Given the description of an element on the screen output the (x, y) to click on. 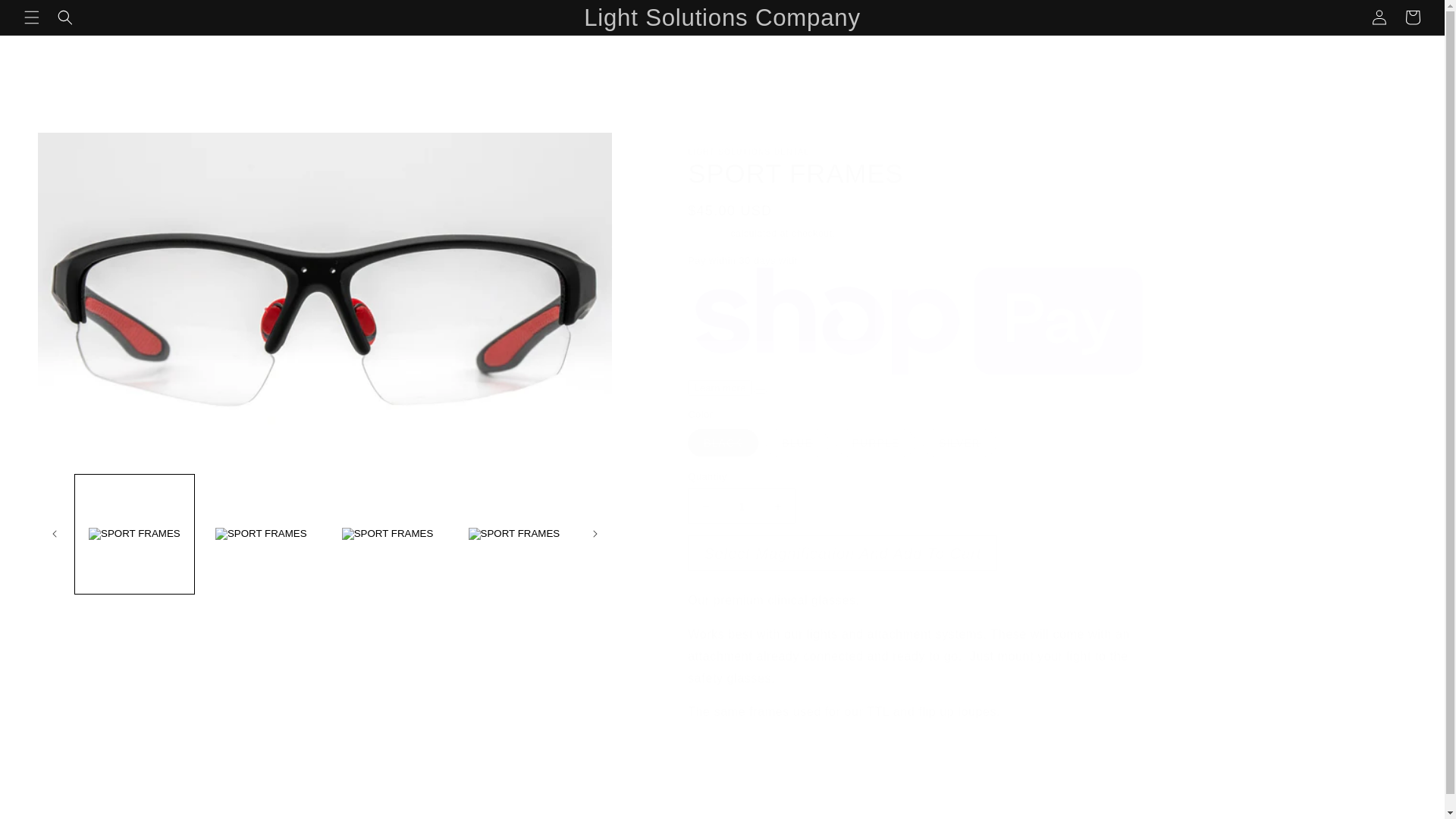
Skip to product information (105, 149)
1 (741, 506)
Light Solutions Company (722, 17)
Log in (1379, 17)
Skip to content (67, 17)
Cart (1412, 17)
